Given the description of an element on the screen output the (x, y) to click on. 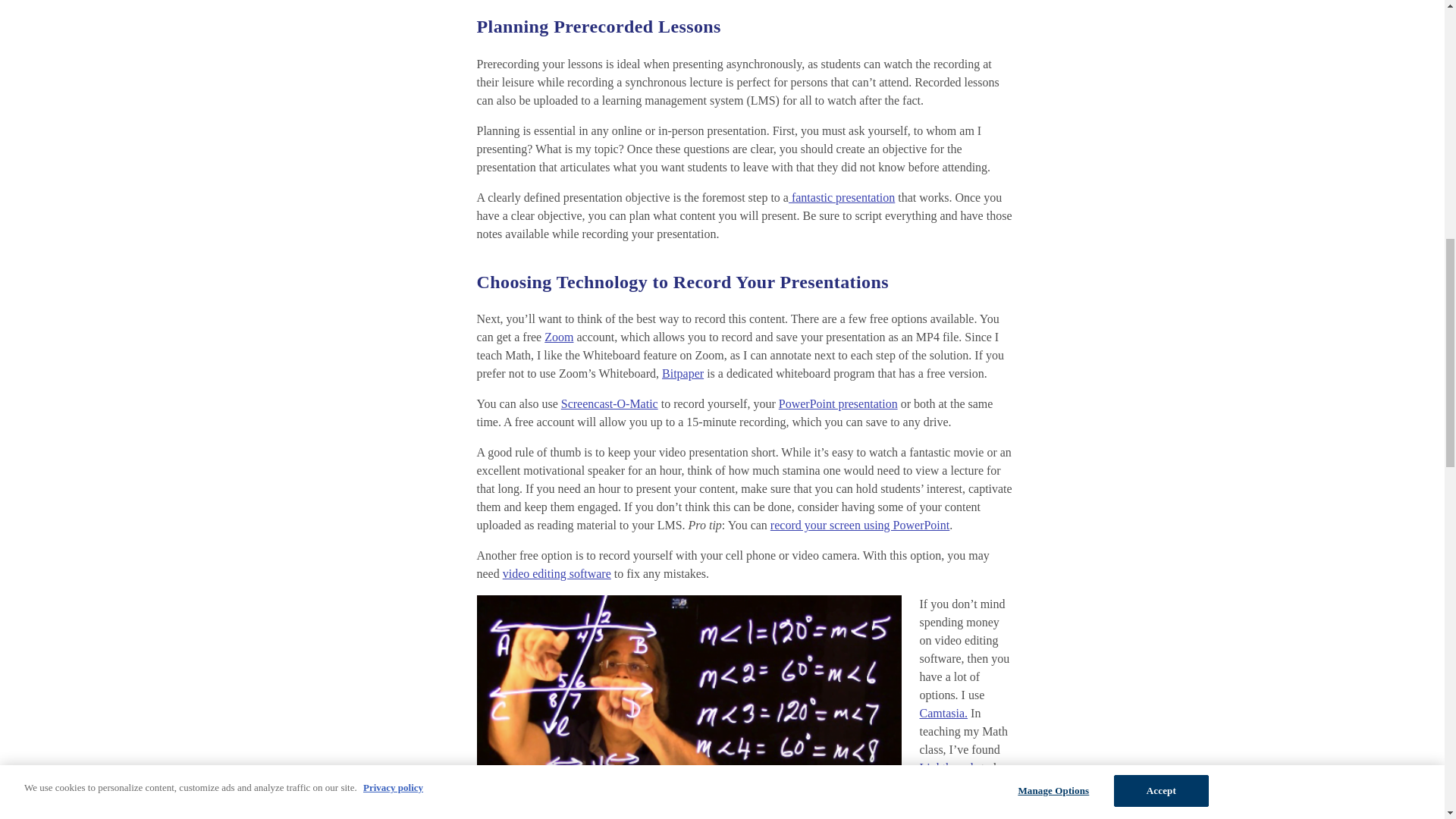
video editing software (556, 573)
Lightboards (947, 767)
record your screen using PowerPoint (859, 524)
Camtasia. (943, 712)
Bitpaper (682, 373)
Zoom (558, 336)
Screencast-O-Matic (609, 403)
fantastic presentation (842, 196)
PowerPoint presentation (838, 403)
